Given the description of an element on the screen output the (x, y) to click on. 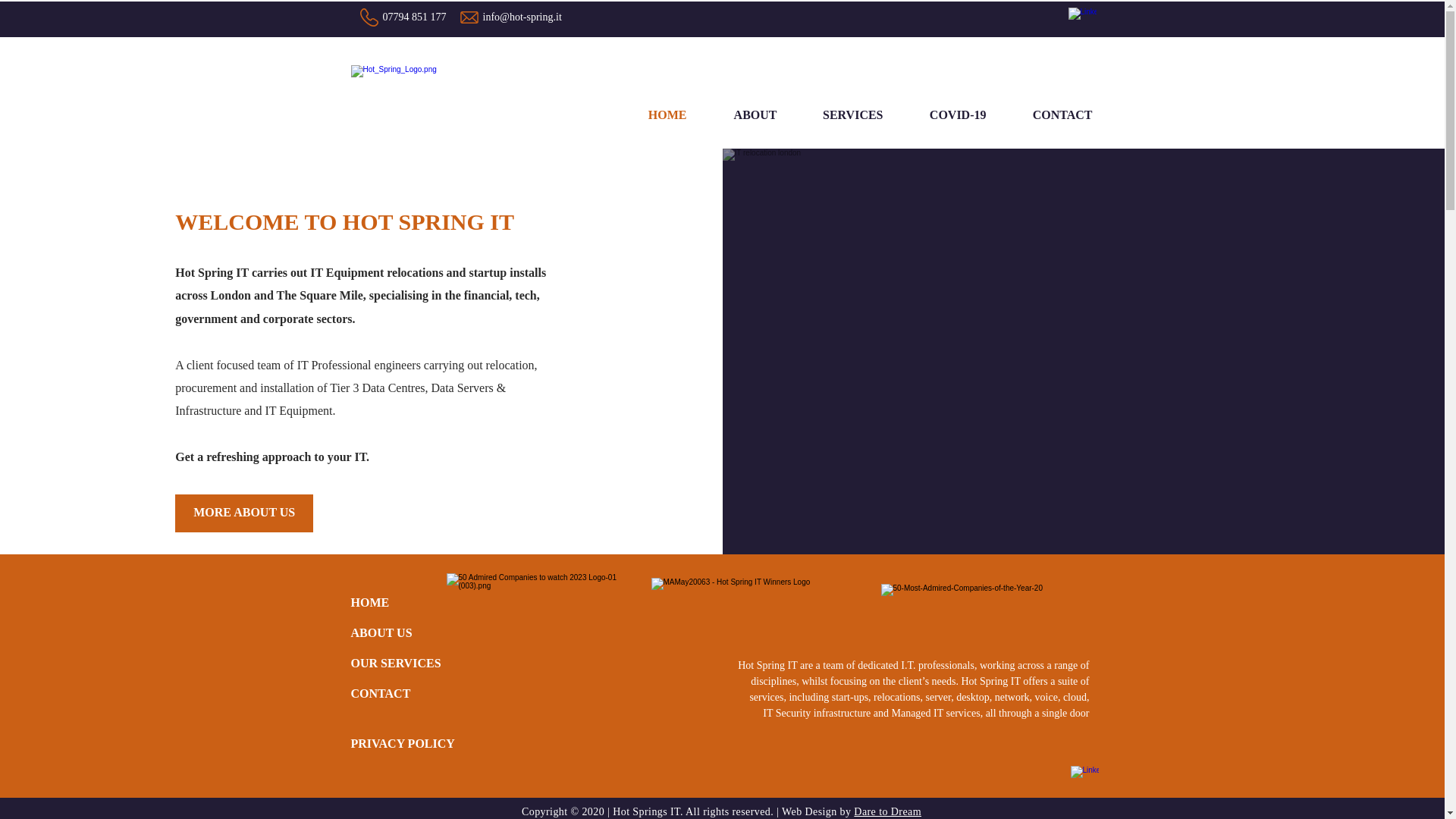
MORE ABOUT US (243, 513)
HOME (655, 115)
Dare to Dream (887, 811)
ABOUT US (404, 634)
OUR SERVICES (404, 664)
HOME (404, 603)
COVID-19 (946, 115)
PRIVACY POLICY (402, 744)
CONTACT (380, 694)
SERVICES (842, 115)
07794 851 177 (413, 16)
CONTACT (1050, 115)
ABOUT (742, 115)
